Given the description of an element on the screen output the (x, y) to click on. 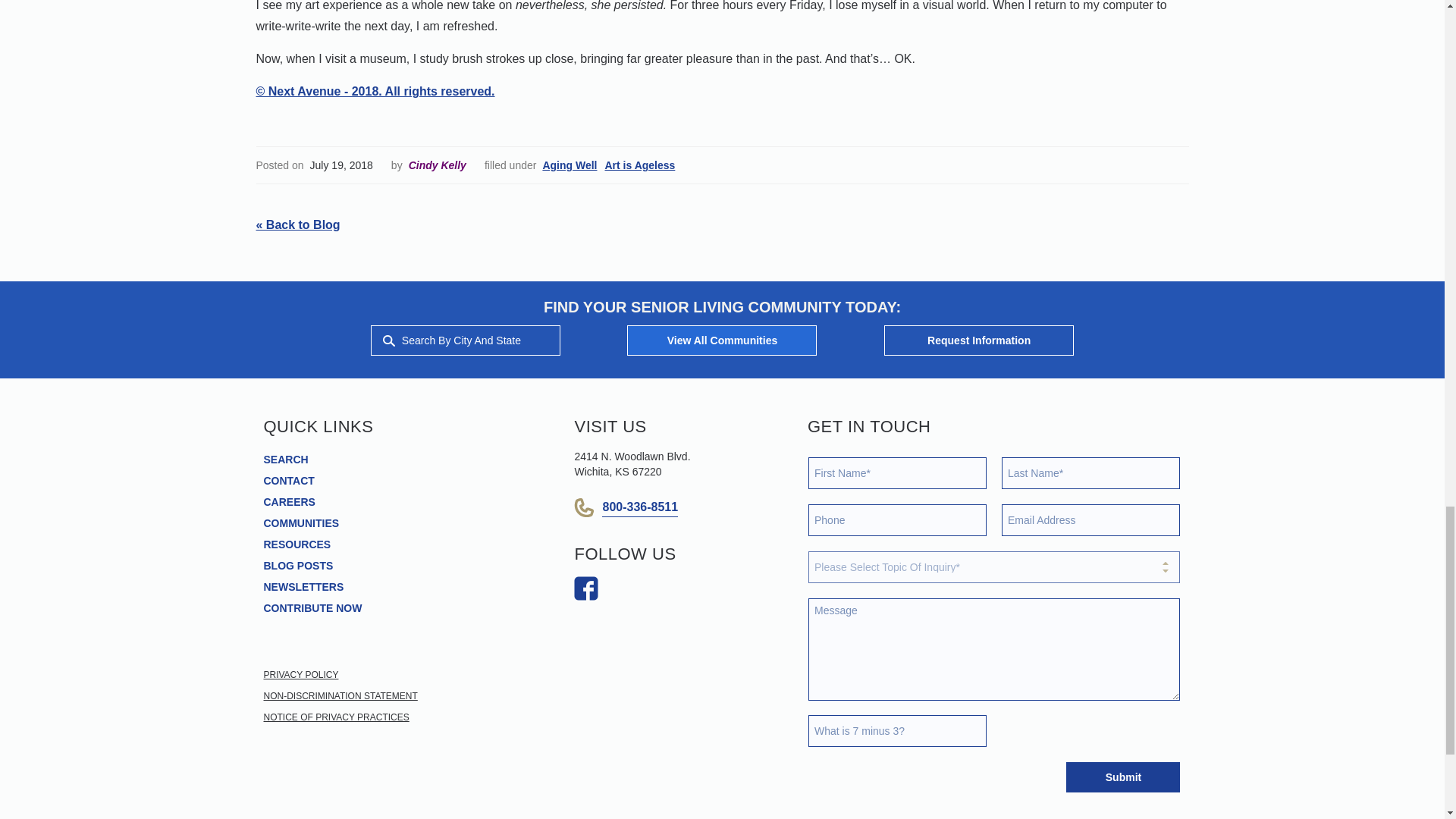
Message (994, 649)
Submit (1122, 777)
What is 7 minus 3? (897, 730)
